Given the description of an element on the screen output the (x, y) to click on. 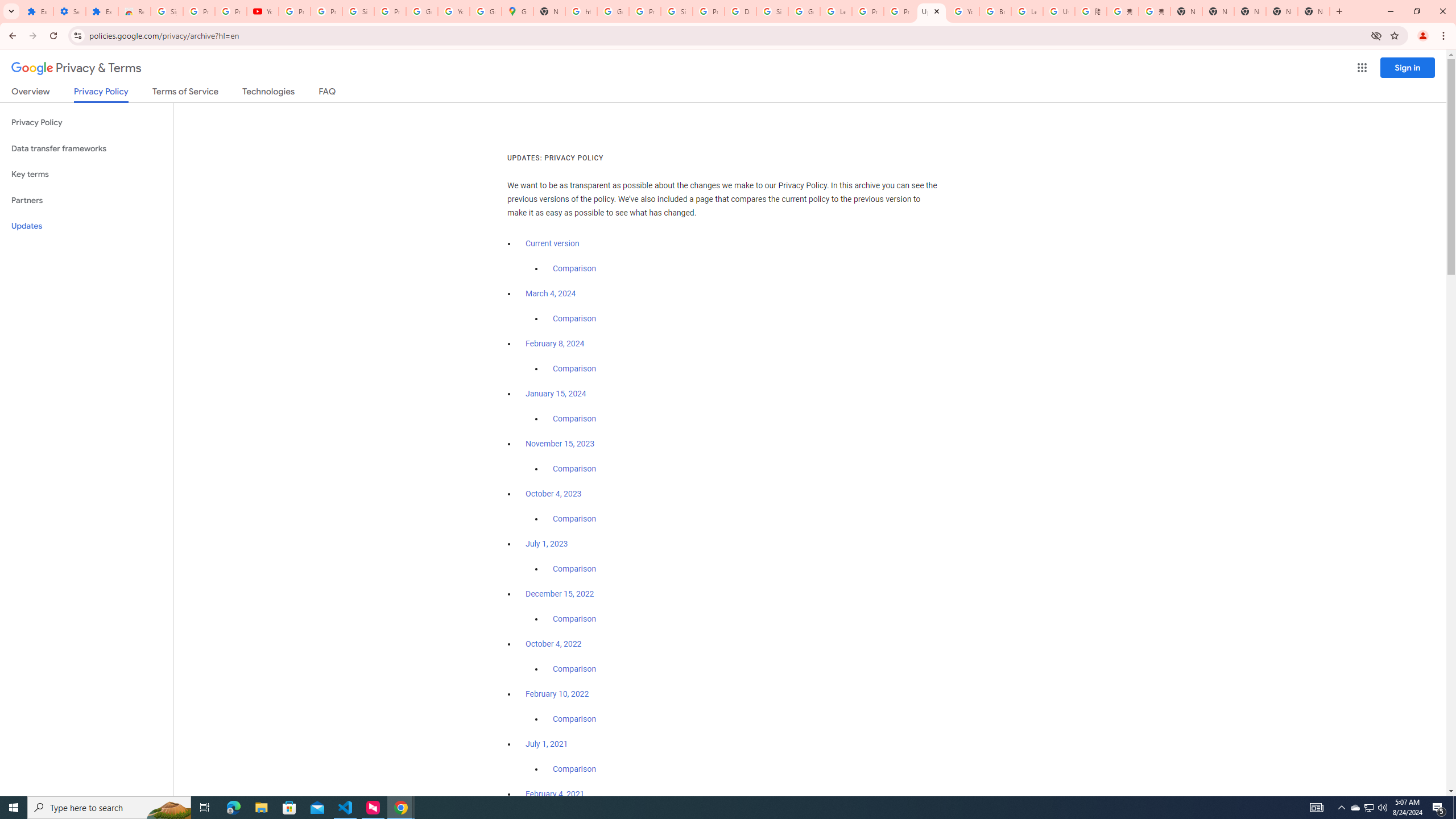
Sign in - Google Accounts (166, 11)
Reviews: Helix Fruit Jump Arcade Game (134, 11)
New Tab (1313, 11)
